Given the description of an element on the screen output the (x, y) to click on. 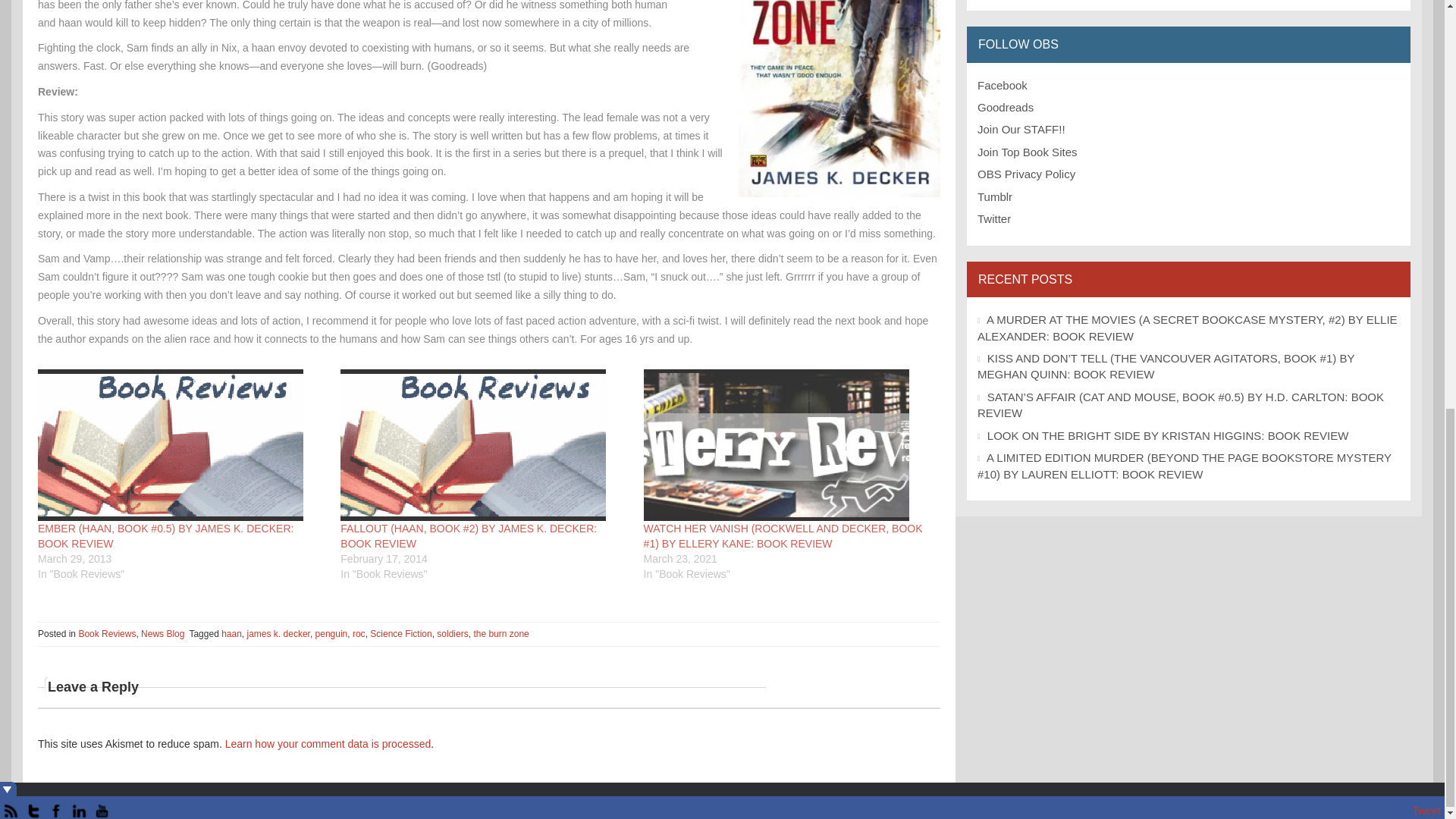
the-burn-zone-haan-james-k-decker (839, 98)
Follow us on our Facebook Group (1001, 84)
Read our reviews on GoodReads.com (1004, 106)
